Given the description of an element on the screen output the (x, y) to click on. 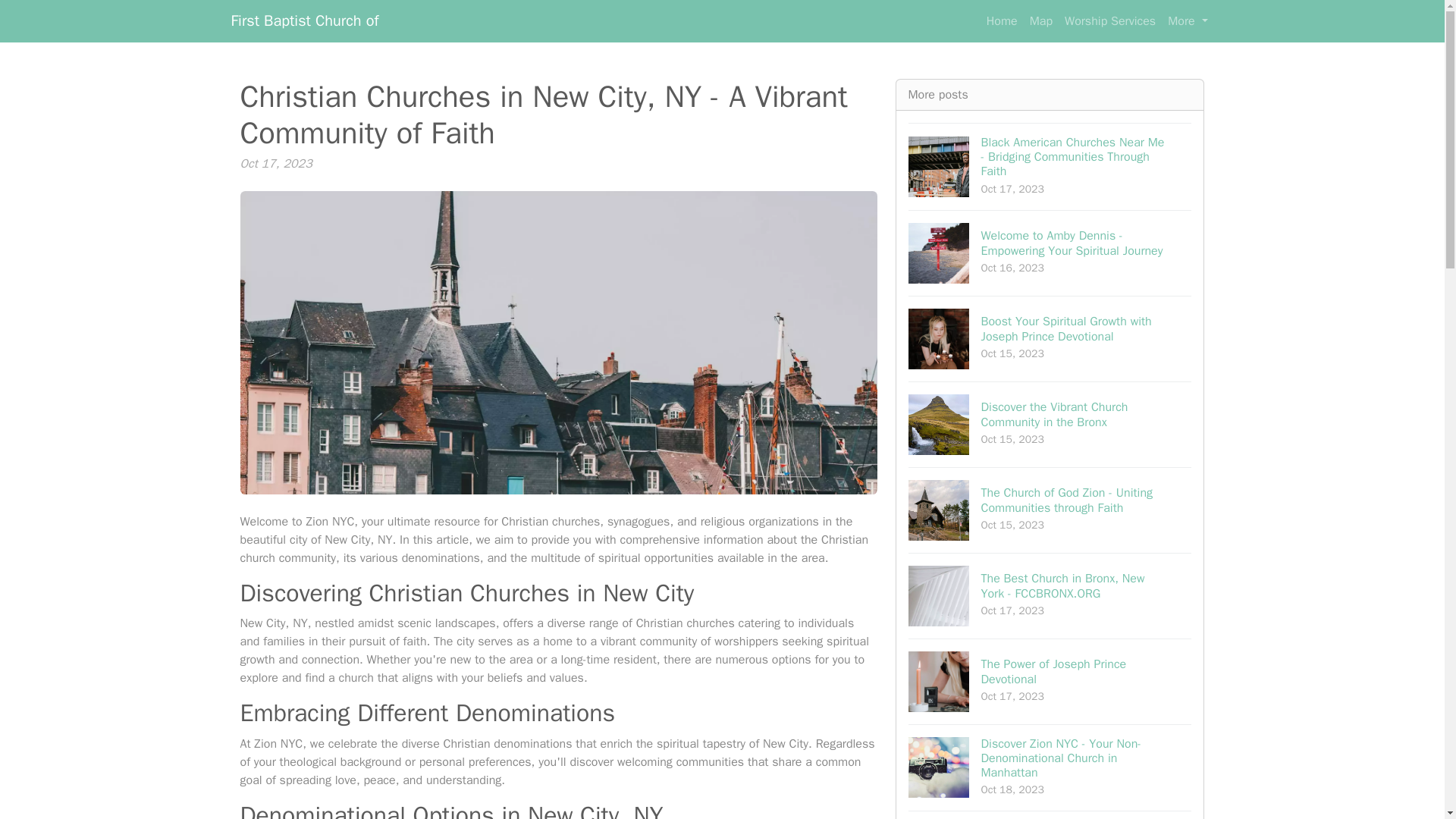
Map (1040, 20)
Home (1001, 20)
More (1050, 680)
First Baptist Church of (1186, 20)
Worship Services (304, 20)
